Given the description of an element on the screen output the (x, y) to click on. 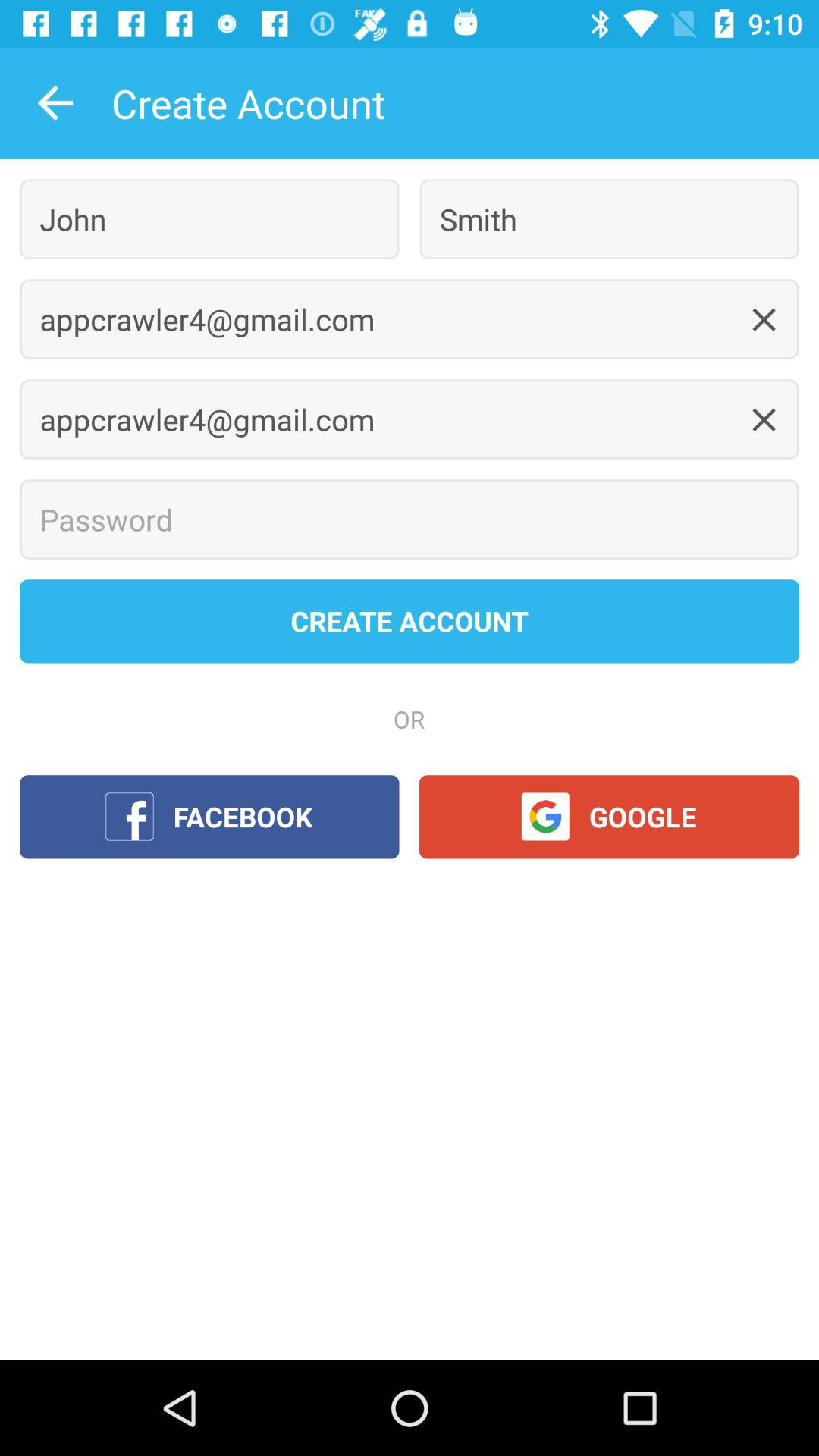
turn off the icon to the right of the john (609, 219)
